Given the description of an element on the screen output the (x, y) to click on. 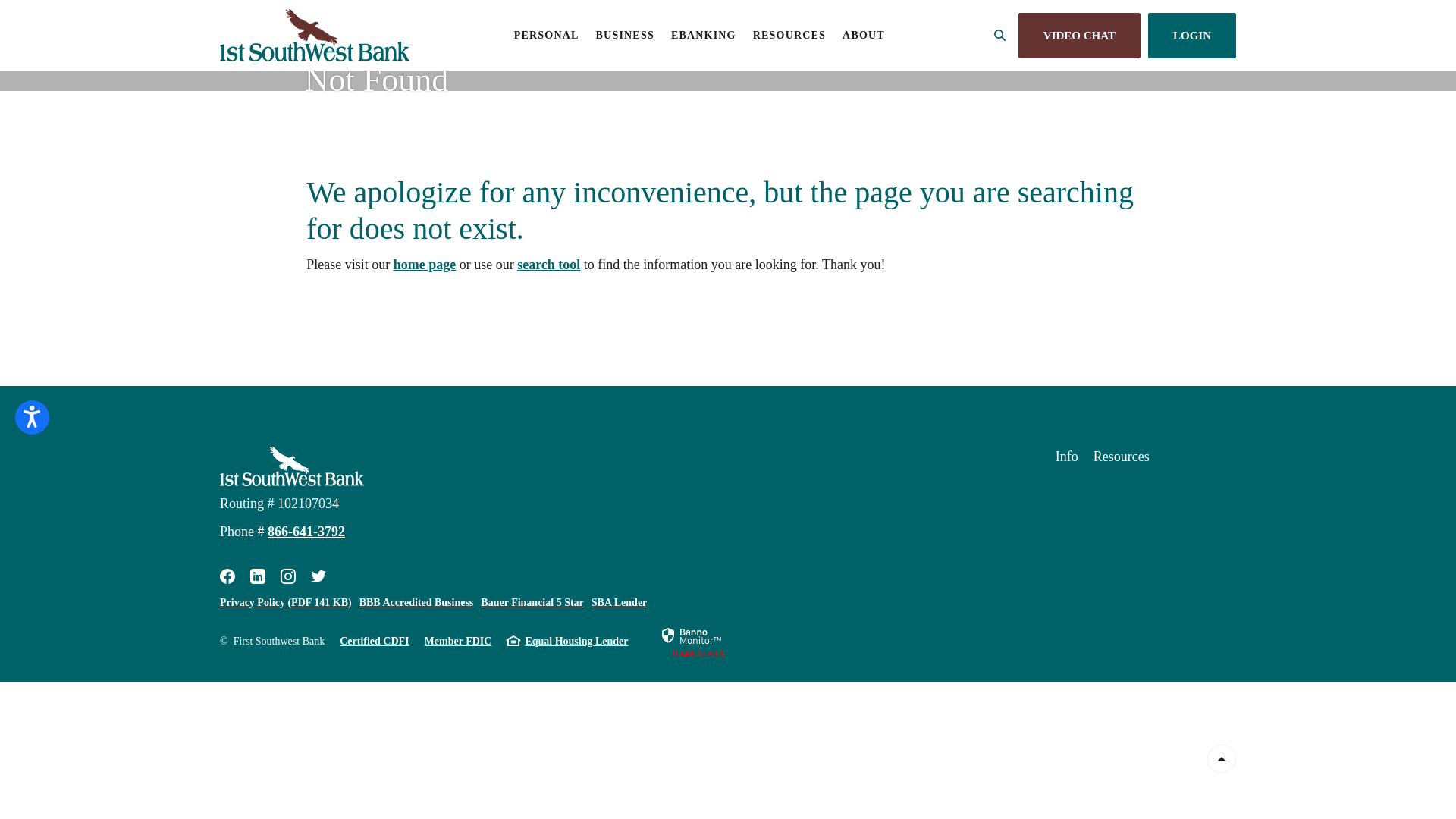
Instagram Element type: text (287, 575)
Privacy Policy (PDF 141 KB) Element type: text (285, 602)
First Southwest Bank, Alamosa, CO Element type: hover (314, 34)
LOGIN Element type: text (1192, 34)
Scanned by Banno Monitor Element type: hover (691, 635)
Equal Housing Lender Element type: text (575, 640)
Member FDIC Element type: text (458, 640)
Twitter Element type: text (318, 575)
Certified CDFI Element type: text (373, 640)
VIDEO CHAT Element type: text (1079, 34)
Facebook Element type: text (227, 575)
866-641-3792 Element type: text (306, 531)
BBB Accredited Business Element type: text (416, 602)
First Southwest Bank, Alamosa, CO Element type: hover (291, 466)
LinkedIn Element type: text (257, 575)
search tool Element type: text (548, 264)
home page Element type: text (424, 264)
Back to the top Element type: text (1221, 758)
Bauer Financial 5 Star Element type: text (531, 602)
SBA Lender Element type: text (619, 602)
